Given the description of an element on the screen output the (x, y) to click on. 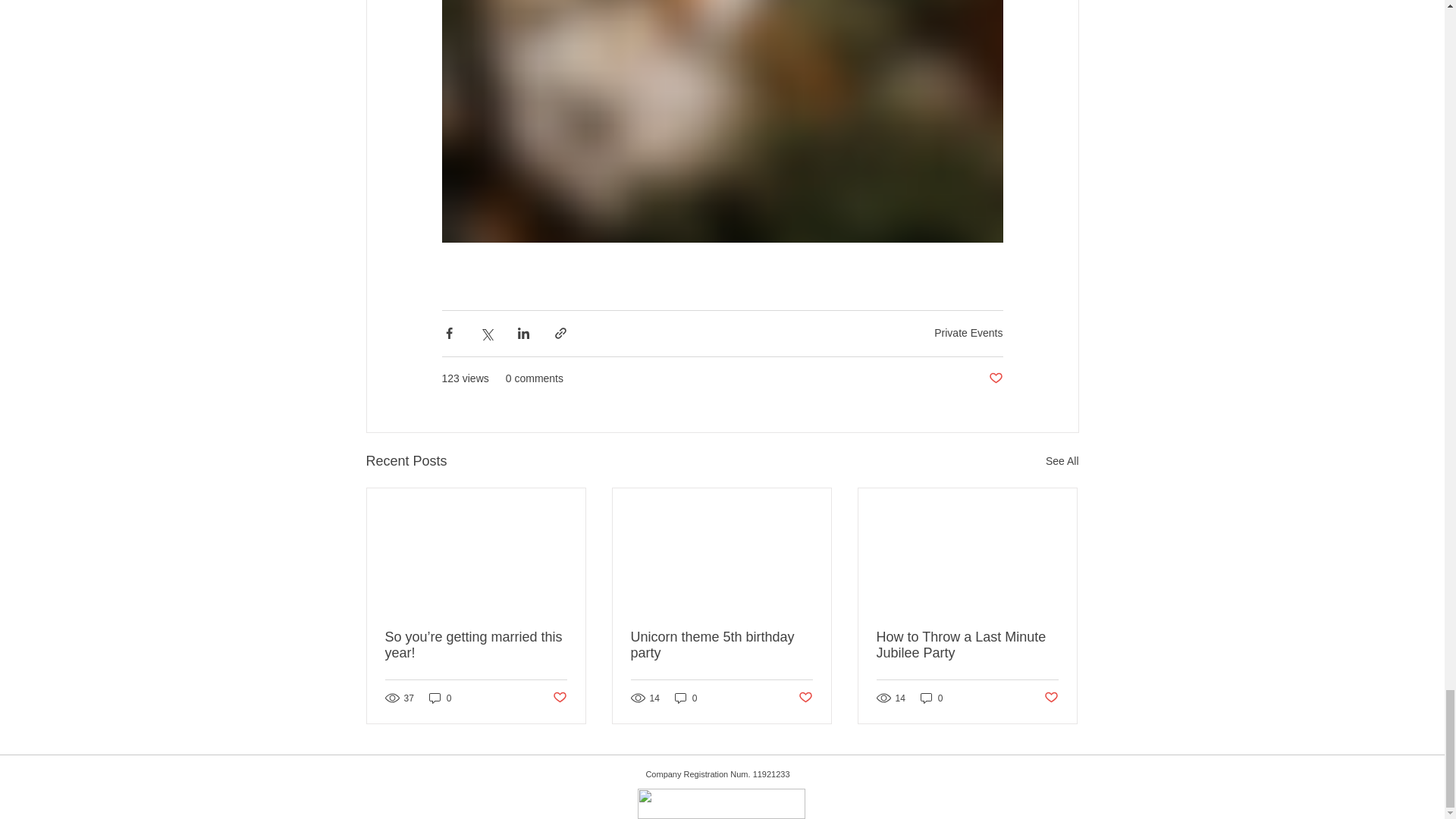
See All (1061, 461)
How to Throw a Last Minute Jubilee Party (967, 644)
0 (685, 698)
Post not marked as liked (1050, 697)
Post not marked as liked (995, 378)
0 (440, 698)
Post not marked as liked (558, 697)
0 (931, 698)
Unicorn theme 5th birthday party (721, 644)
Post not marked as liked (804, 697)
Private Events (968, 332)
